Given the description of an element on the screen output the (x, y) to click on. 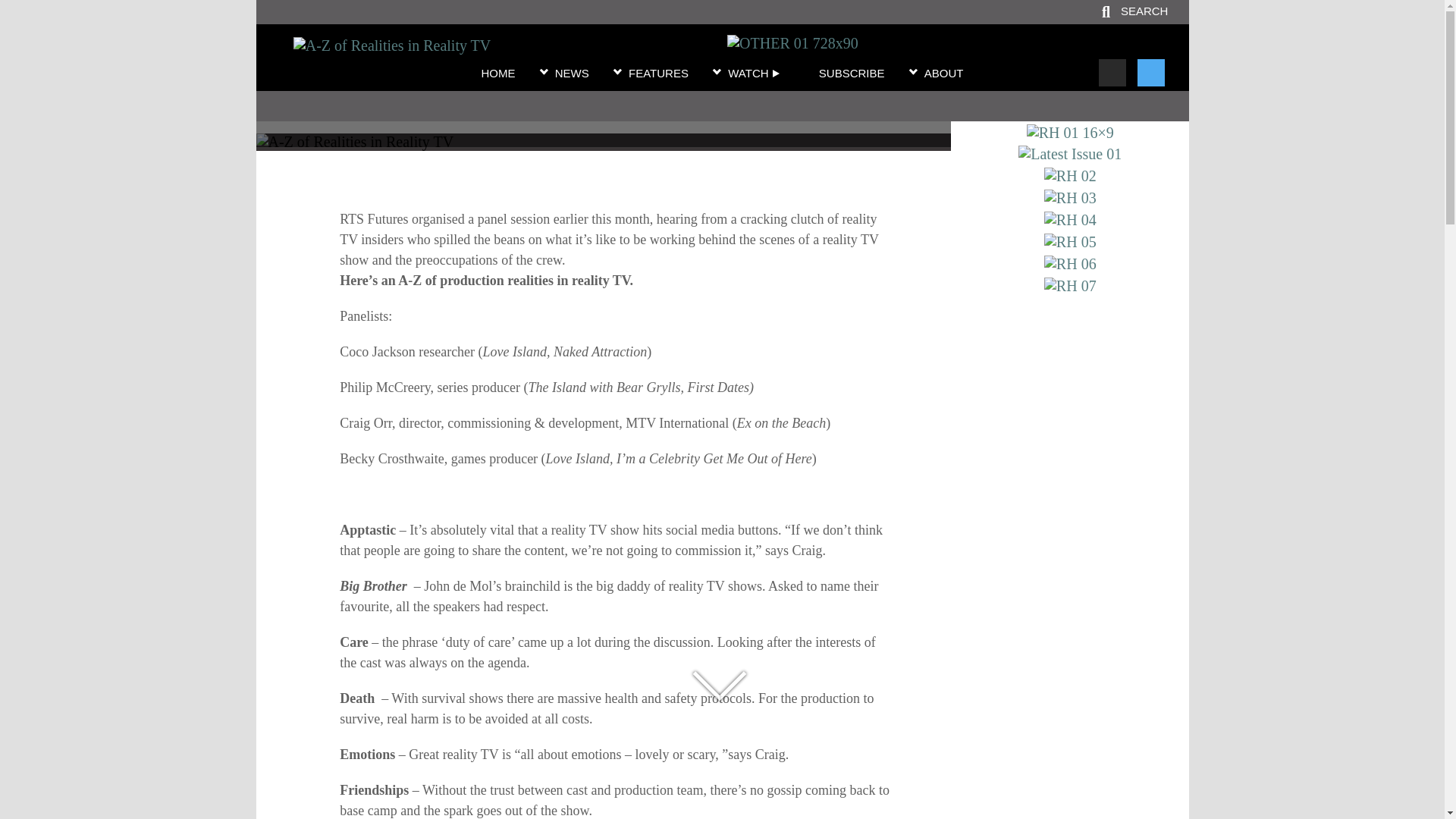
A-Z of Realities in Reality TV (393, 45)
WATCH (753, 73)
FEATURES (658, 73)
A-Z of Realities in Reality TV (603, 111)
SUBSCRIBE (851, 73)
NEWS (571, 73)
HOME (497, 73)
ABOUT (943, 73)
